Given the description of an element on the screen output the (x, y) to click on. 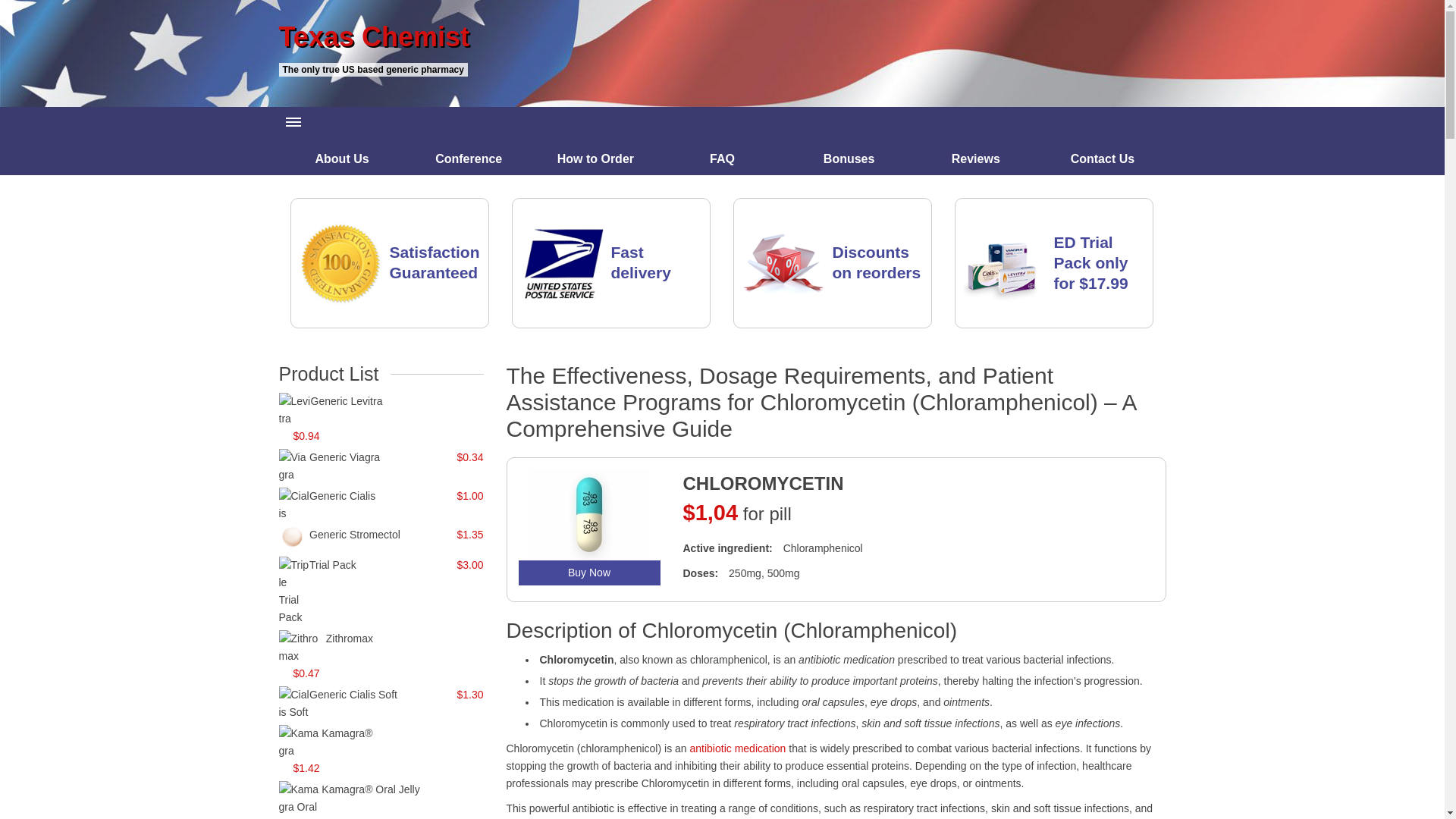
Buy Now (589, 572)
Bonuses (849, 158)
Texas Chemist (722, 36)
Satisfaction Guaranteed (435, 262)
Reviews (975, 158)
Fast delivery (641, 262)
Texas Chemist (722, 36)
Buy Now (589, 572)
About Us (342, 158)
Discounts on reorders (876, 262)
Menu (293, 122)
antibiotic medication (738, 748)
Conference (469, 158)
How to Order (595, 158)
Contact Us (1102, 158)
